Given the description of an element on the screen output the (x, y) to click on. 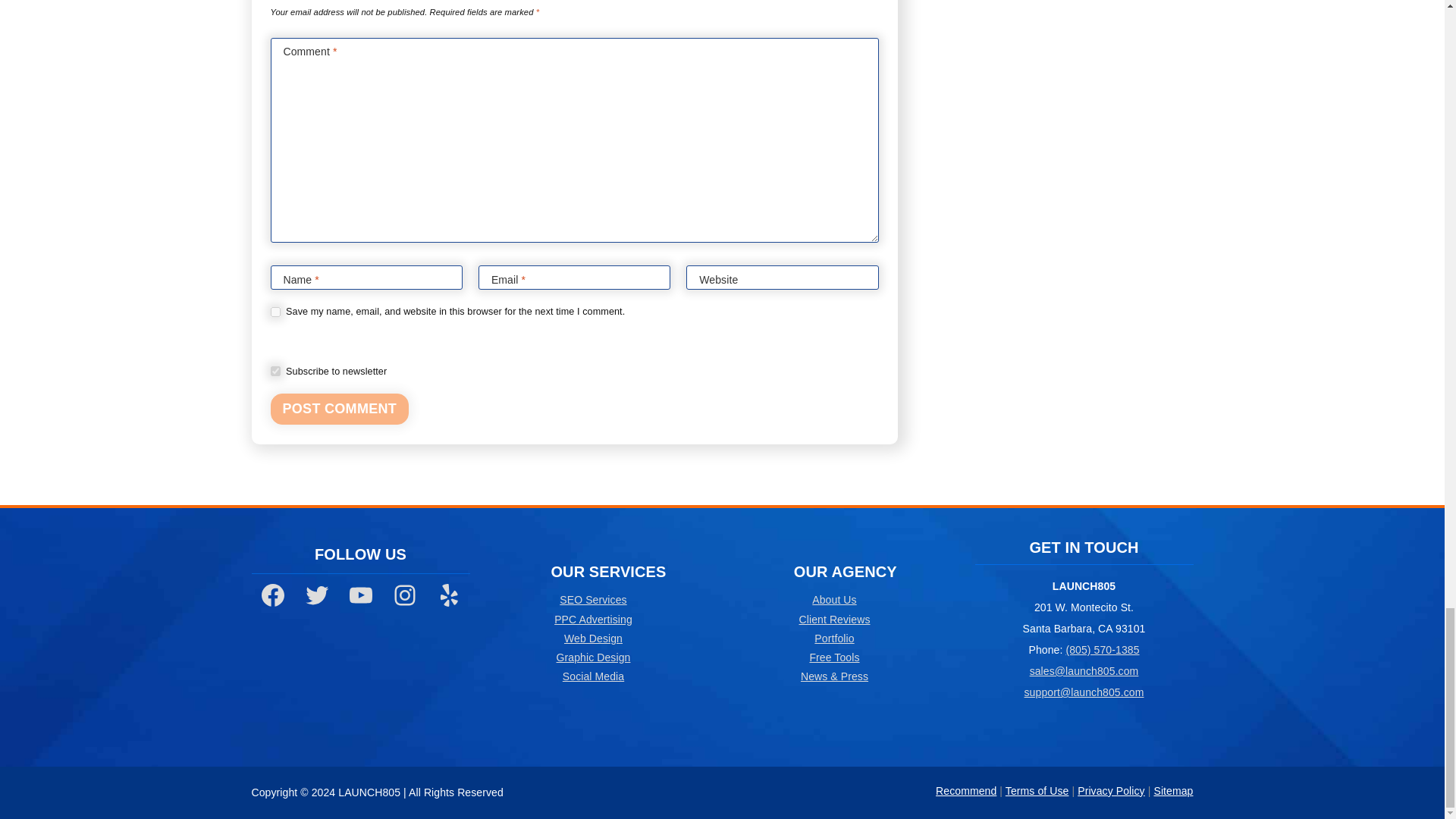
yes (274, 370)
Post Comment (339, 409)
yes (274, 311)
